Given the description of an element on the screen output the (x, y) to click on. 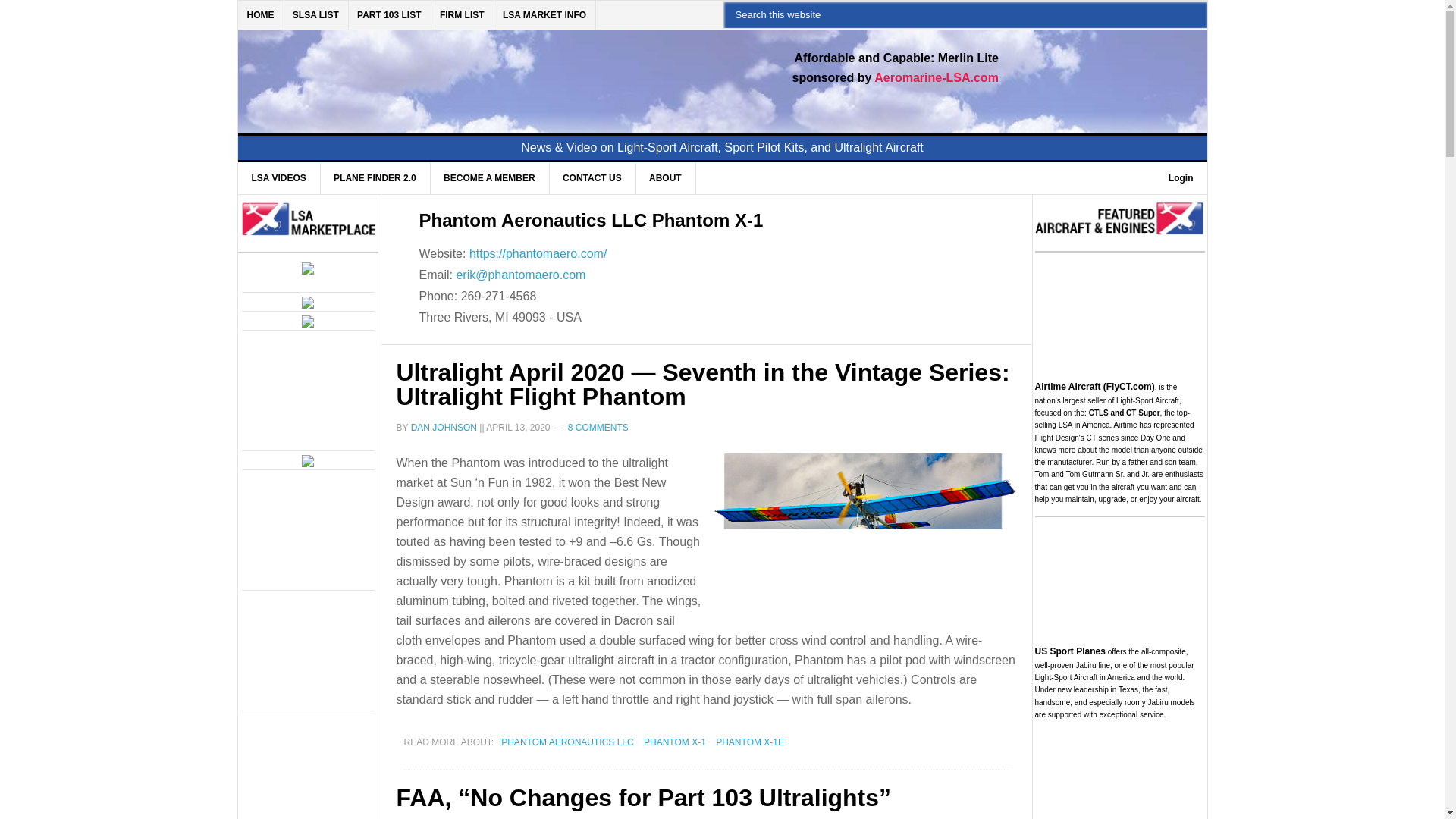
BYDANJOHNSON.COM (469, 73)
LSA VIDEOS (279, 178)
PHANTOM X-1 (674, 742)
HOME (260, 14)
ABOUT (664, 178)
PART 103 LIST (388, 14)
DAN JOHNSON (443, 427)
PHANTOM X-1E (750, 742)
